Given the description of an element on the screen output the (x, y) to click on. 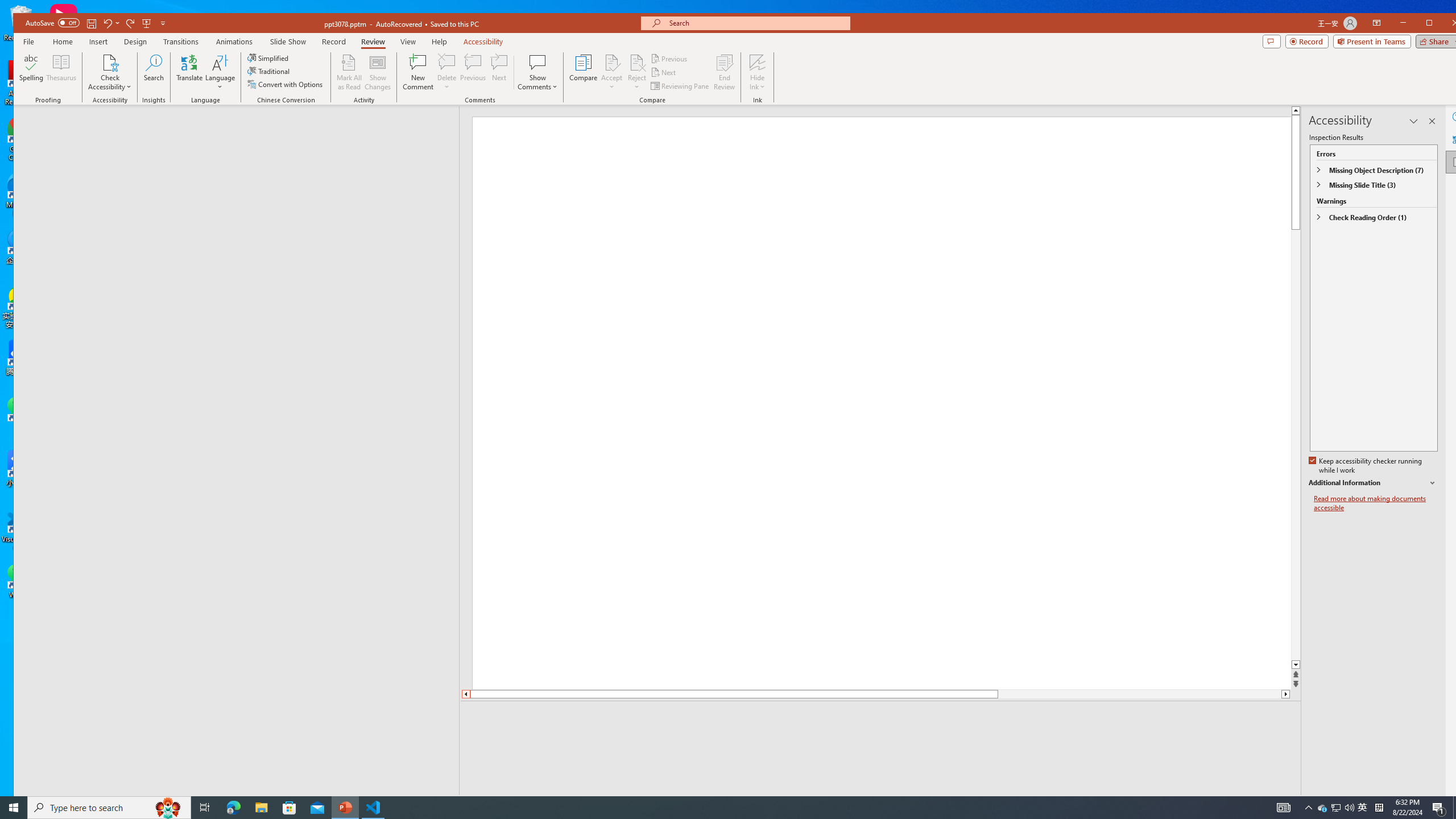
Check Accessibility (109, 61)
Language (219, 72)
Maximize (1445, 24)
Rectangle (229, 450)
Outline (240, 128)
